Given the description of an element on the screen output the (x, y) to click on. 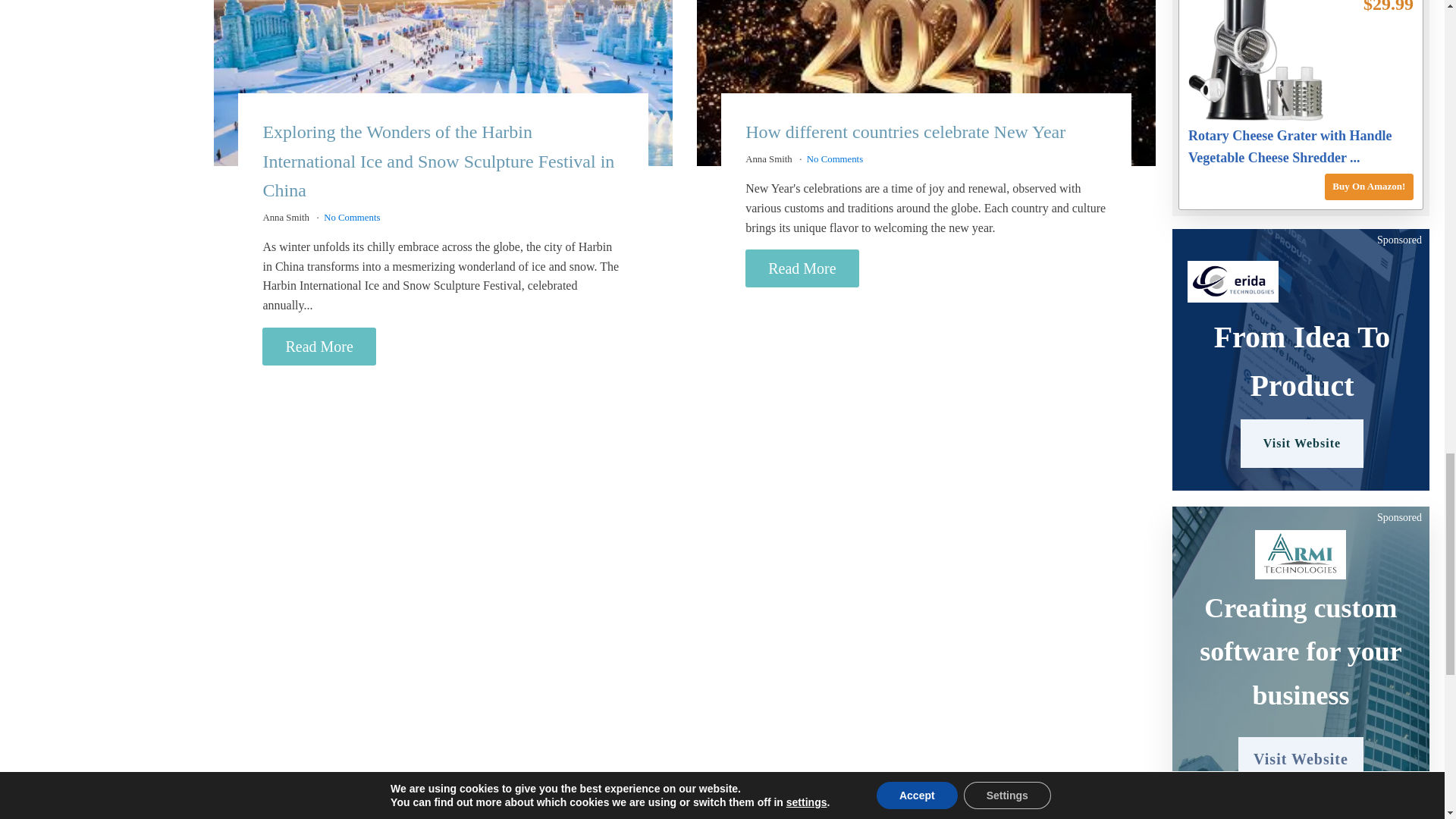
Read More (802, 268)
Visit Website (1301, 443)
How different countries celebrate New Year (905, 131)
January 6, 2024 (443, 83)
Read More (318, 346)
January 1, 2024 (926, 83)
No Comments (351, 217)
No Comments (834, 158)
Buy On Amazon! (1368, 186)
Visit Website (1300, 759)
